Given the description of an element on the screen output the (x, y) to click on. 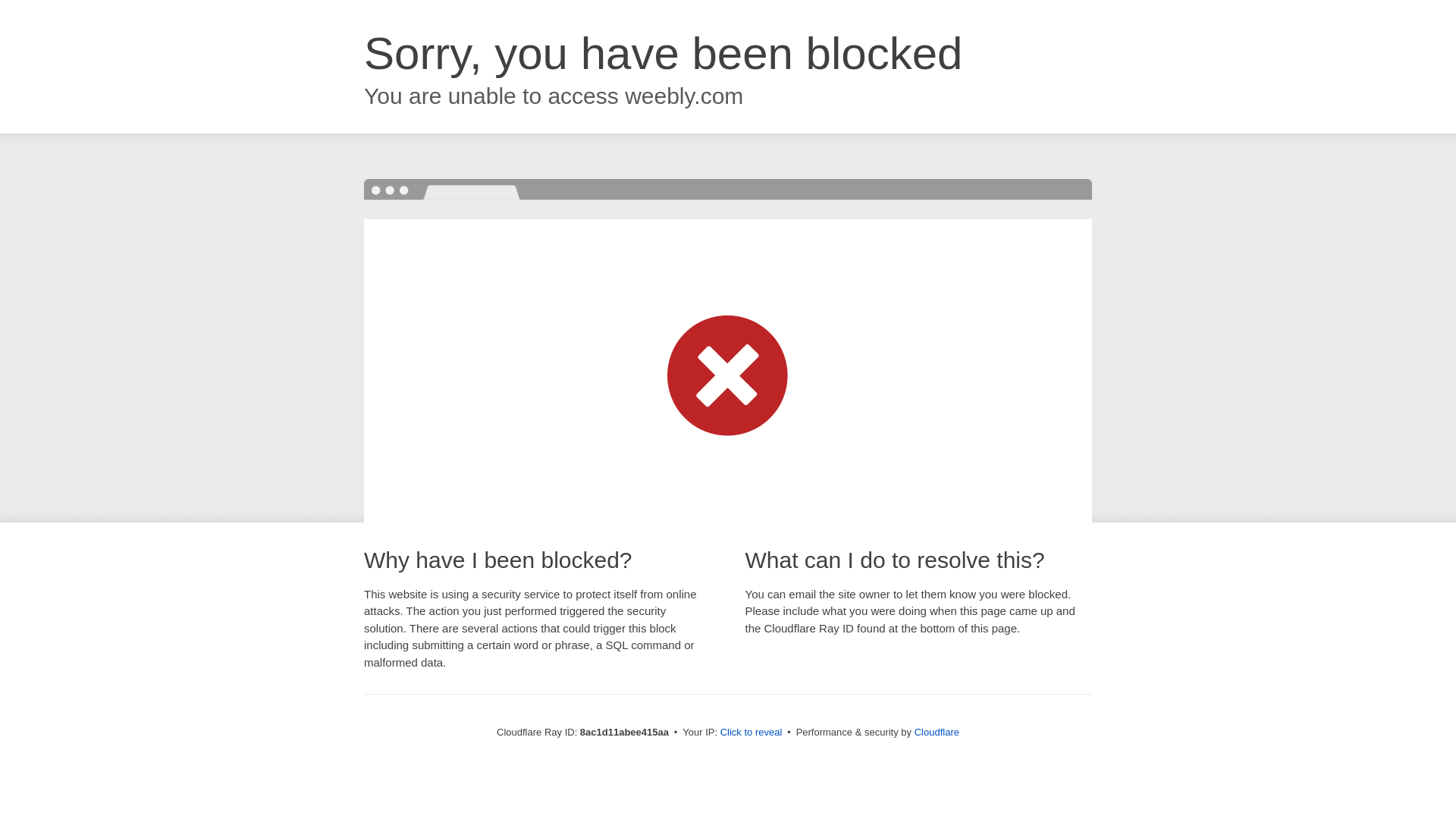
Click to reveal (751, 732)
Cloudflare (936, 731)
